Given the description of an element on the screen output the (x, y) to click on. 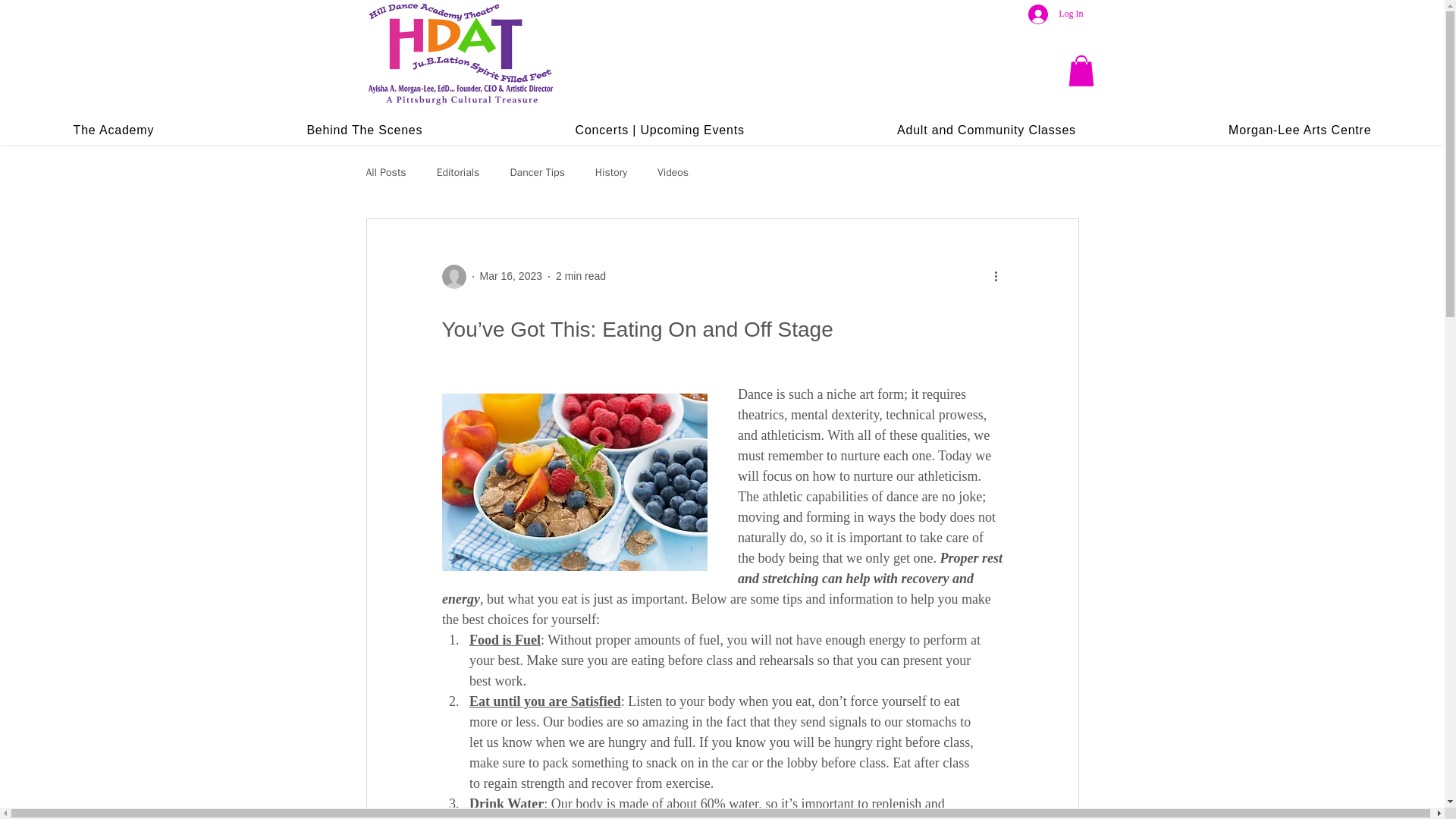
All Posts (385, 172)
Videos (673, 172)
2 min read (580, 275)
Dancer Tips (536, 172)
History (611, 172)
Mar 16, 2023 (510, 275)
Editorials (458, 172)
Log In (1055, 14)
